Given the description of an element on the screen output the (x, y) to click on. 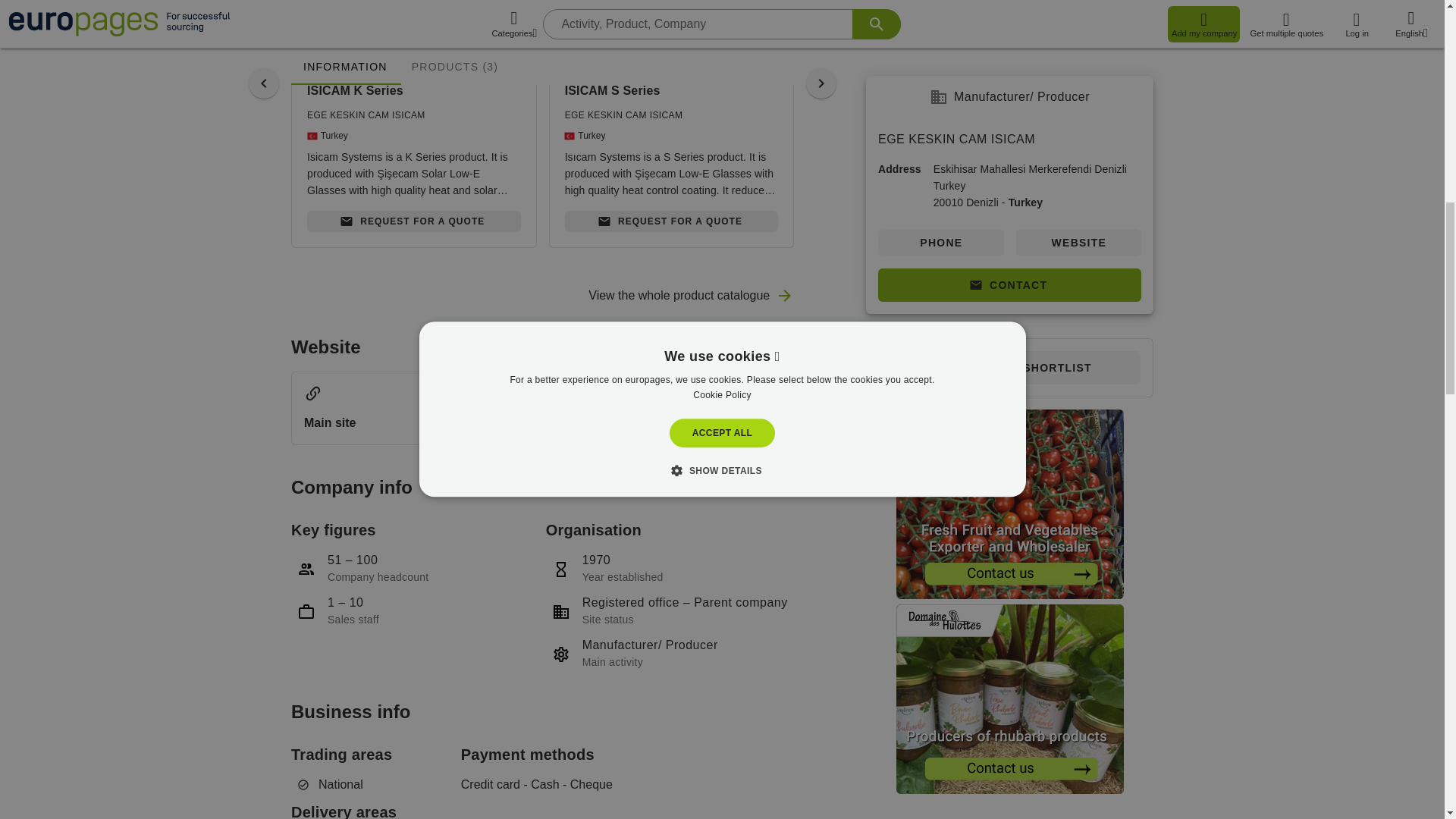
REQUEST FOR A QUOTE (928, 220)
REQUEST FOR A QUOTE (414, 220)
View the whole product catalogue (690, 295)
Main site (542, 408)
REQUEST FOR A QUOTE (671, 220)
